Given the description of an element on the screen output the (x, y) to click on. 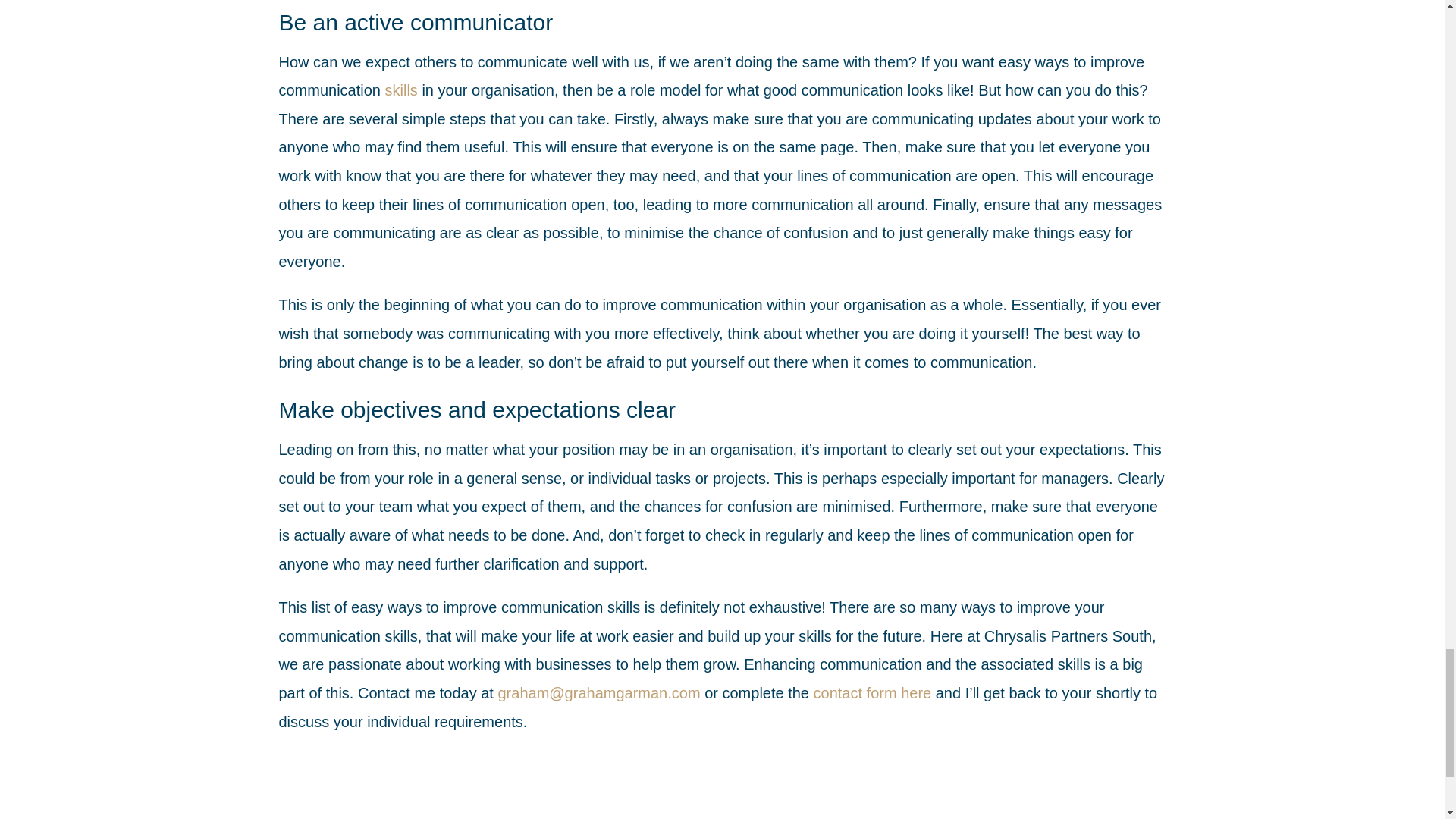
contact form here (872, 692)
skills (401, 89)
